Given the description of an element on the screen output the (x, y) to click on. 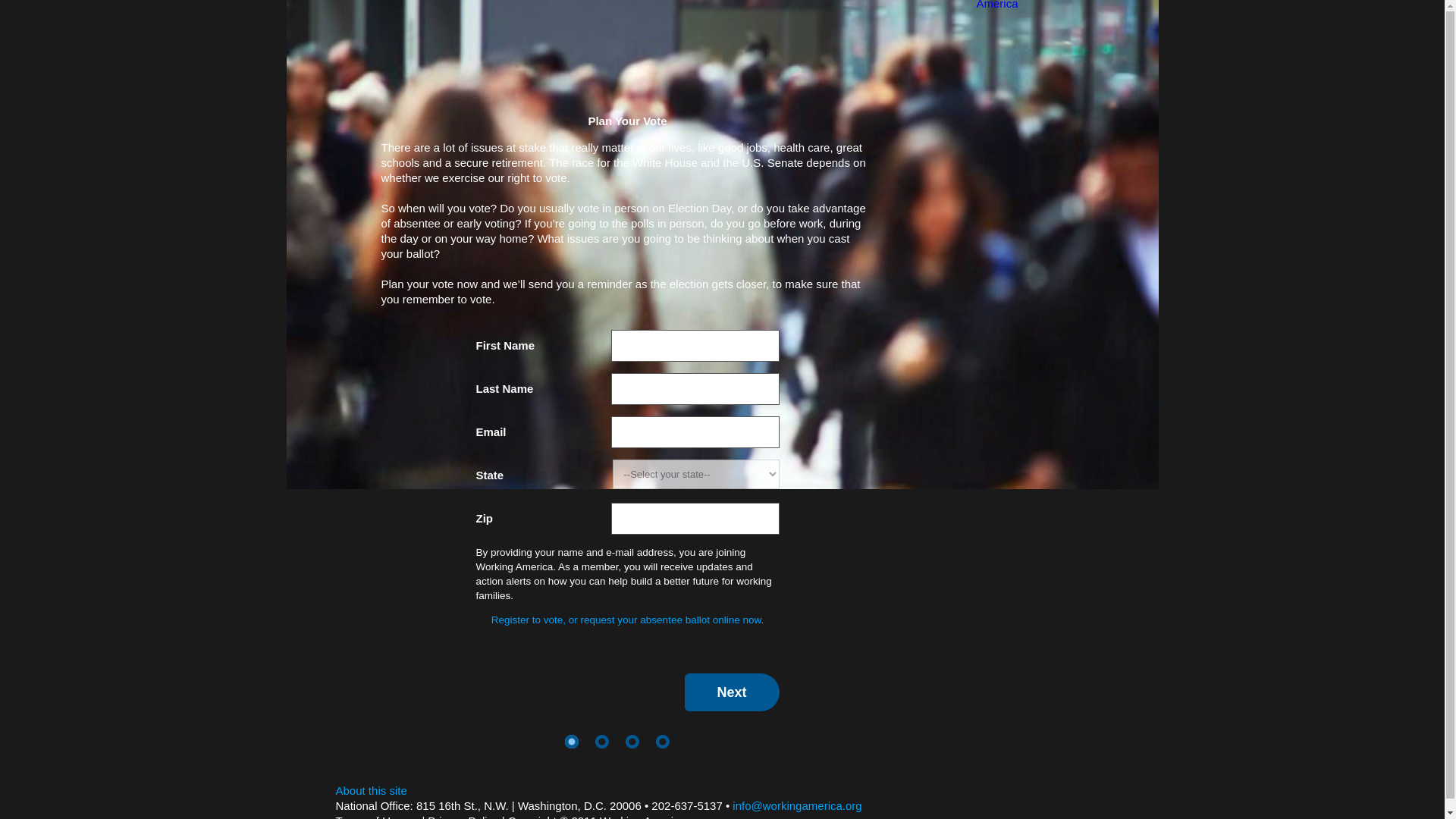
Register to vote (627, 619)
About this site (370, 789)
A Project Of Working America (1042, 5)
